Given the description of an element on the screen output the (x, y) to click on. 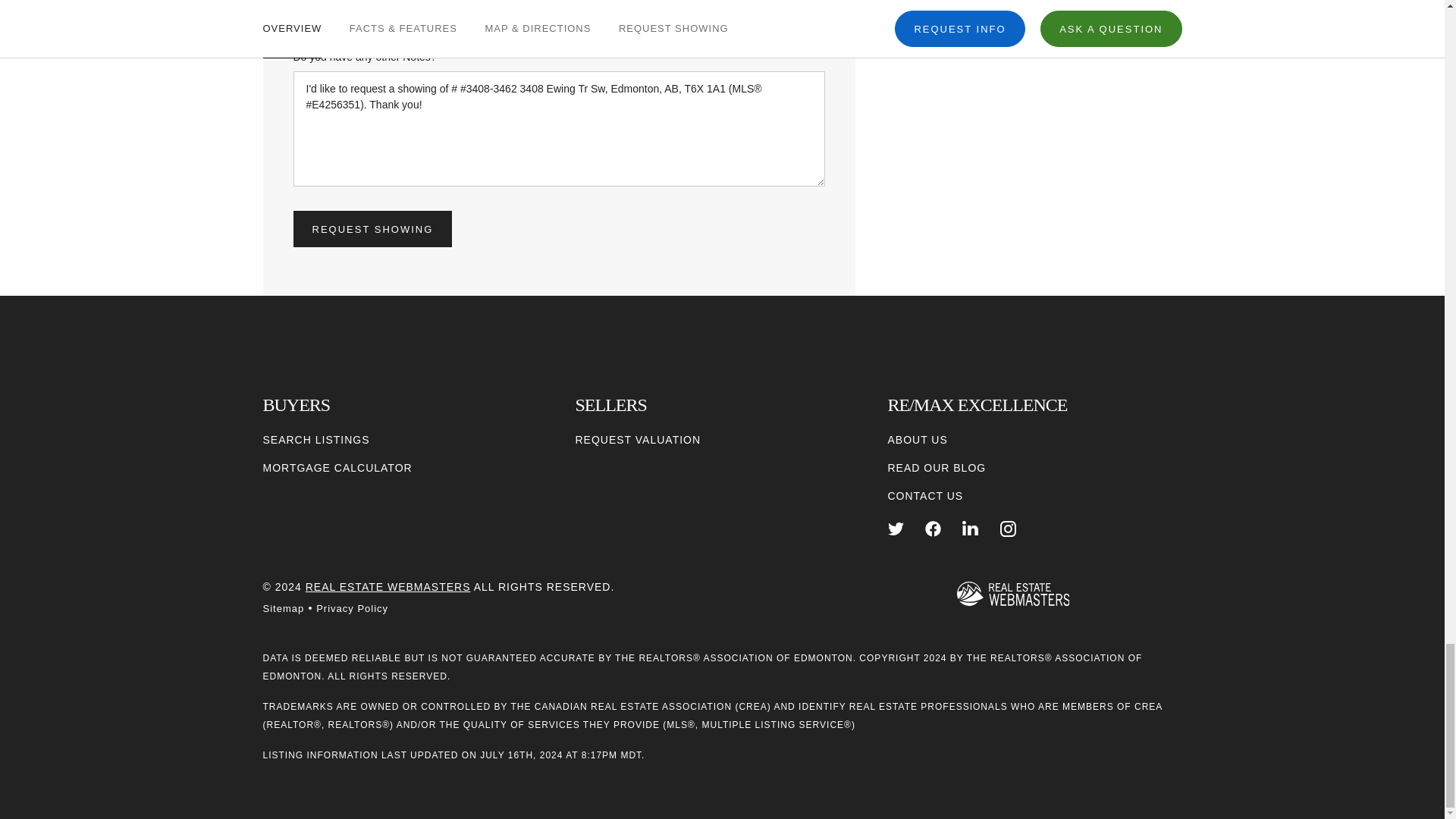
TWITTER (894, 528)
FACEBOOK (932, 528)
LINKEDIN (970, 528)
Next Week (627, 12)
This Week (490, 12)
ASAP (352, 12)
